Given the description of an element on the screen output the (x, y) to click on. 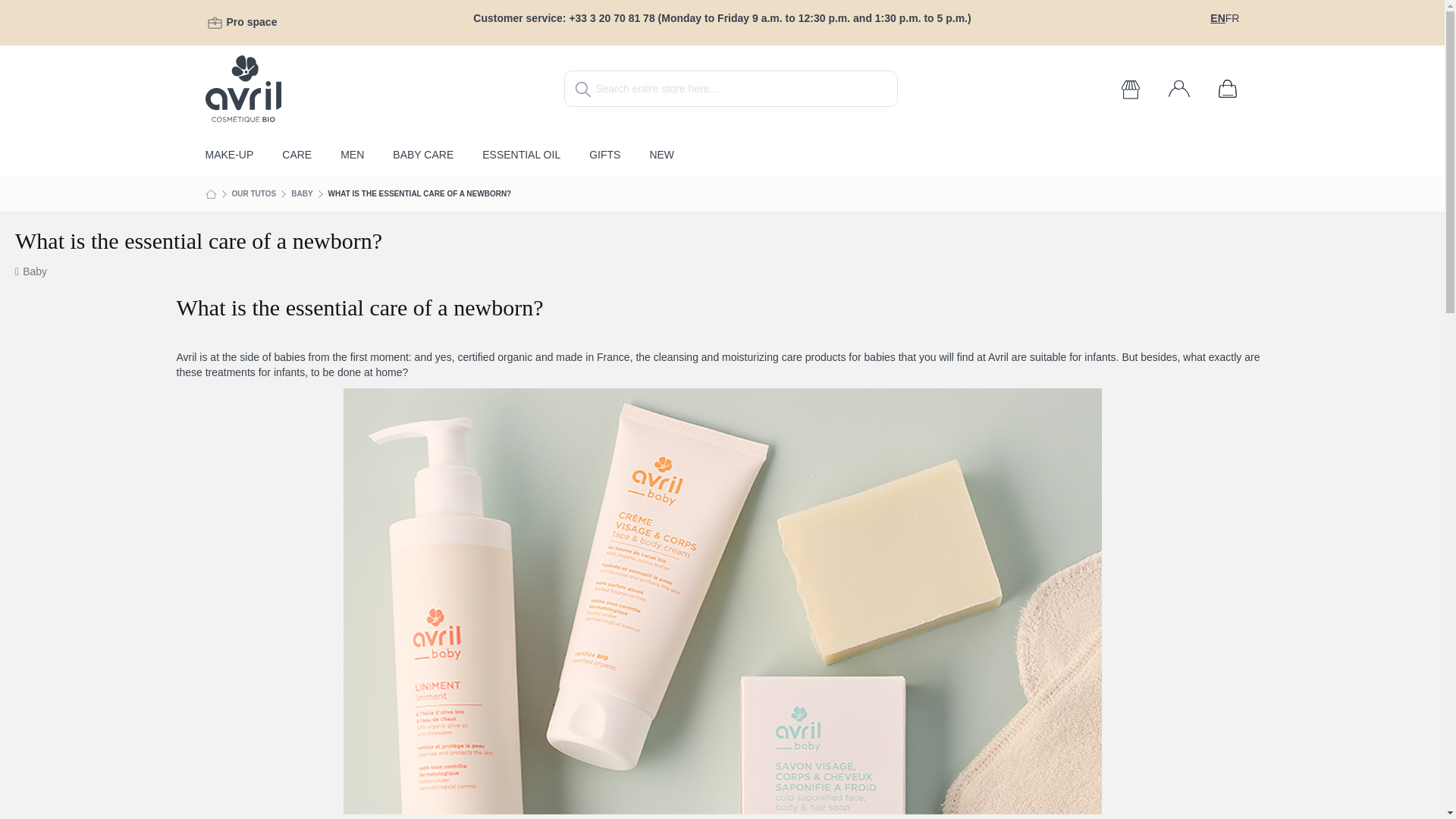
MAKE-UP (229, 157)
My Cart (1226, 88)
FR (1232, 18)
Pro space (250, 21)
Search (582, 89)
Avril logo (375, 88)
Search (582, 89)
Avril logo (243, 88)
